Given the description of an element on the screen output the (x, y) to click on. 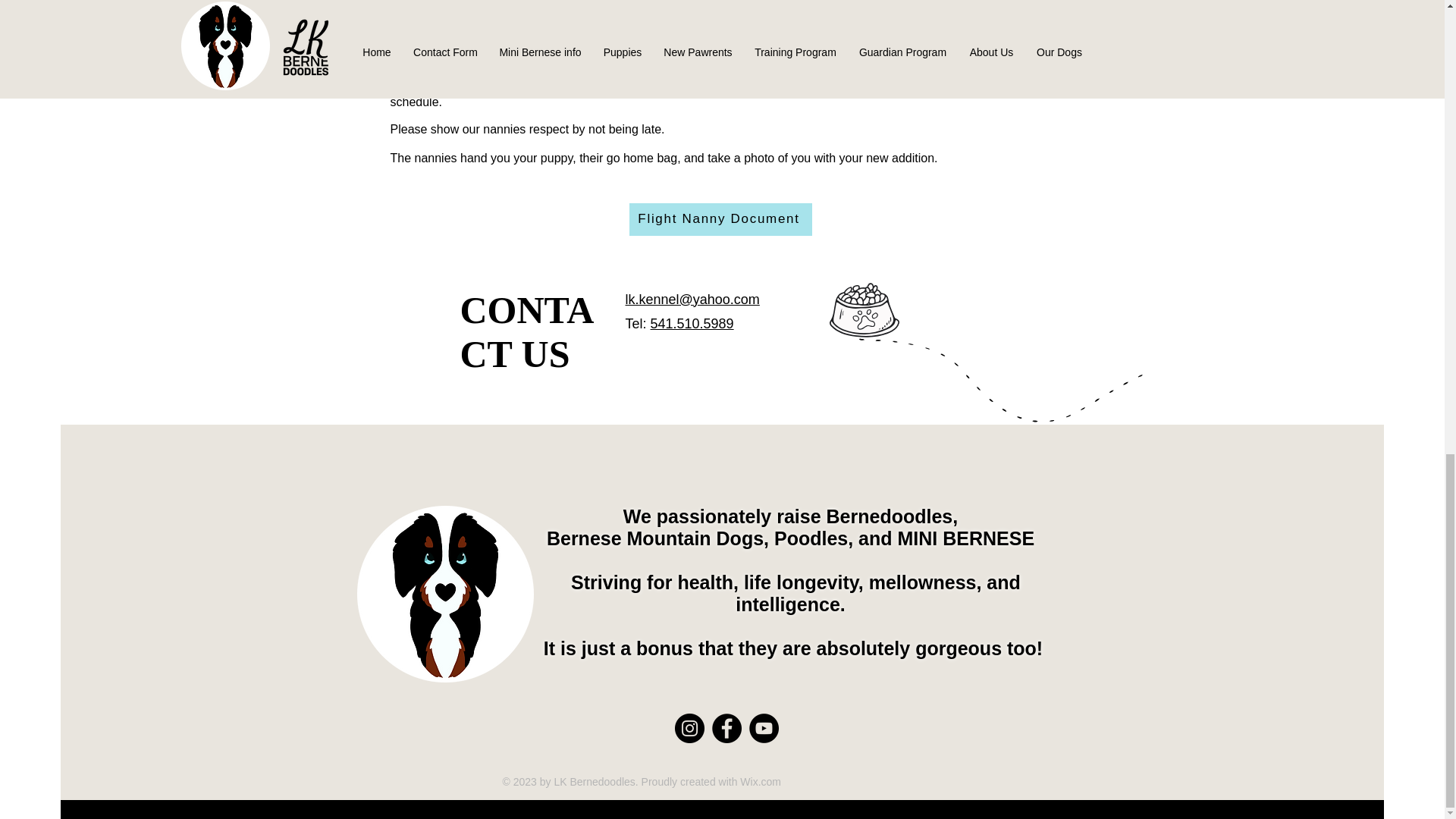
Flight Nanny Document (720, 219)
541.510.5989 (691, 323)
Wix.com (759, 781)
